Given the description of an element on the screen output the (x, y) to click on. 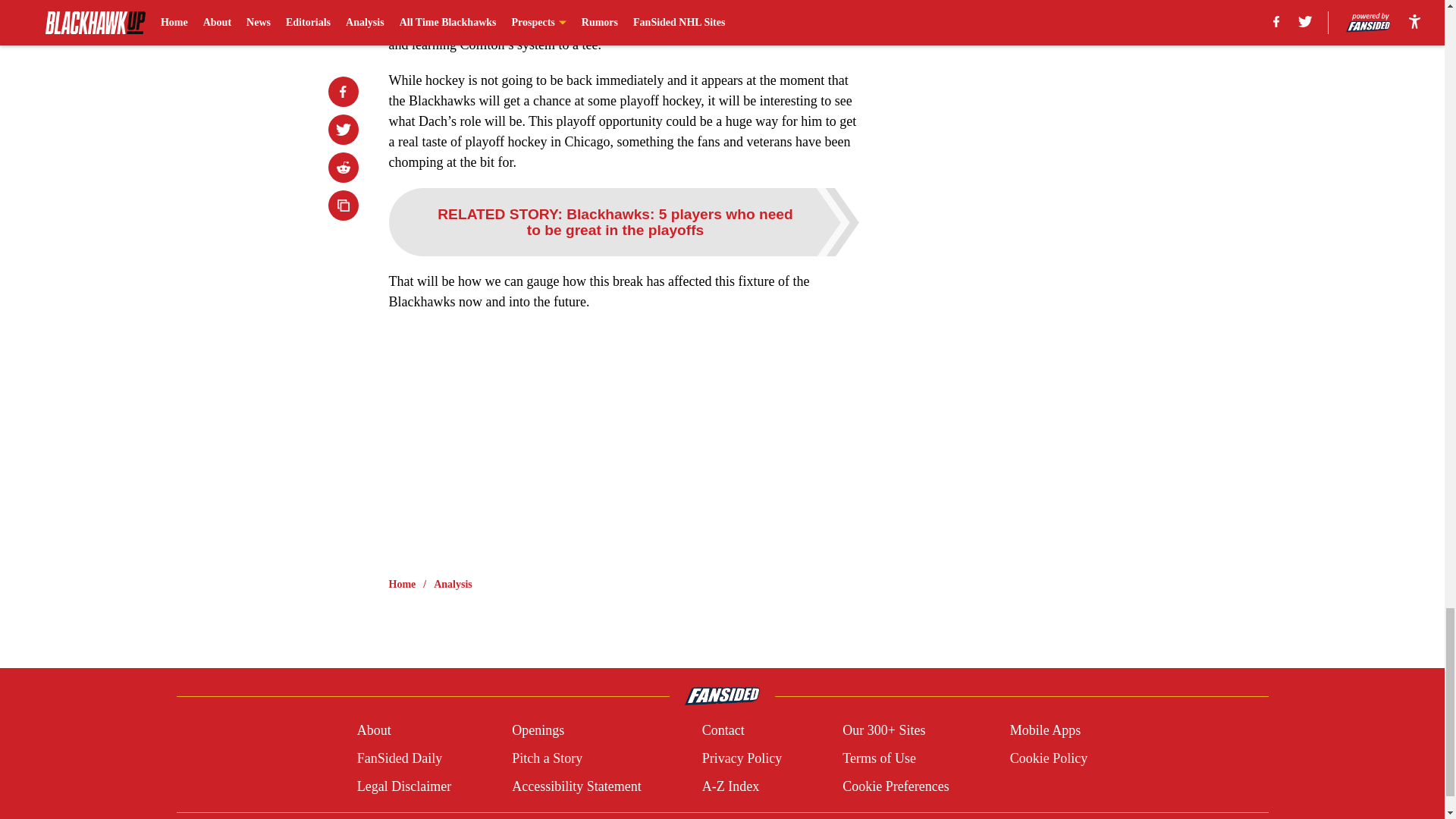
About (373, 730)
Pitch a Story (547, 758)
Contact (722, 730)
Analysis (452, 584)
Openings (538, 730)
Privacy Policy (742, 758)
Home (401, 584)
Terms of Use (879, 758)
FanSided Daily (399, 758)
